Given the description of an element on the screen output the (x, y) to click on. 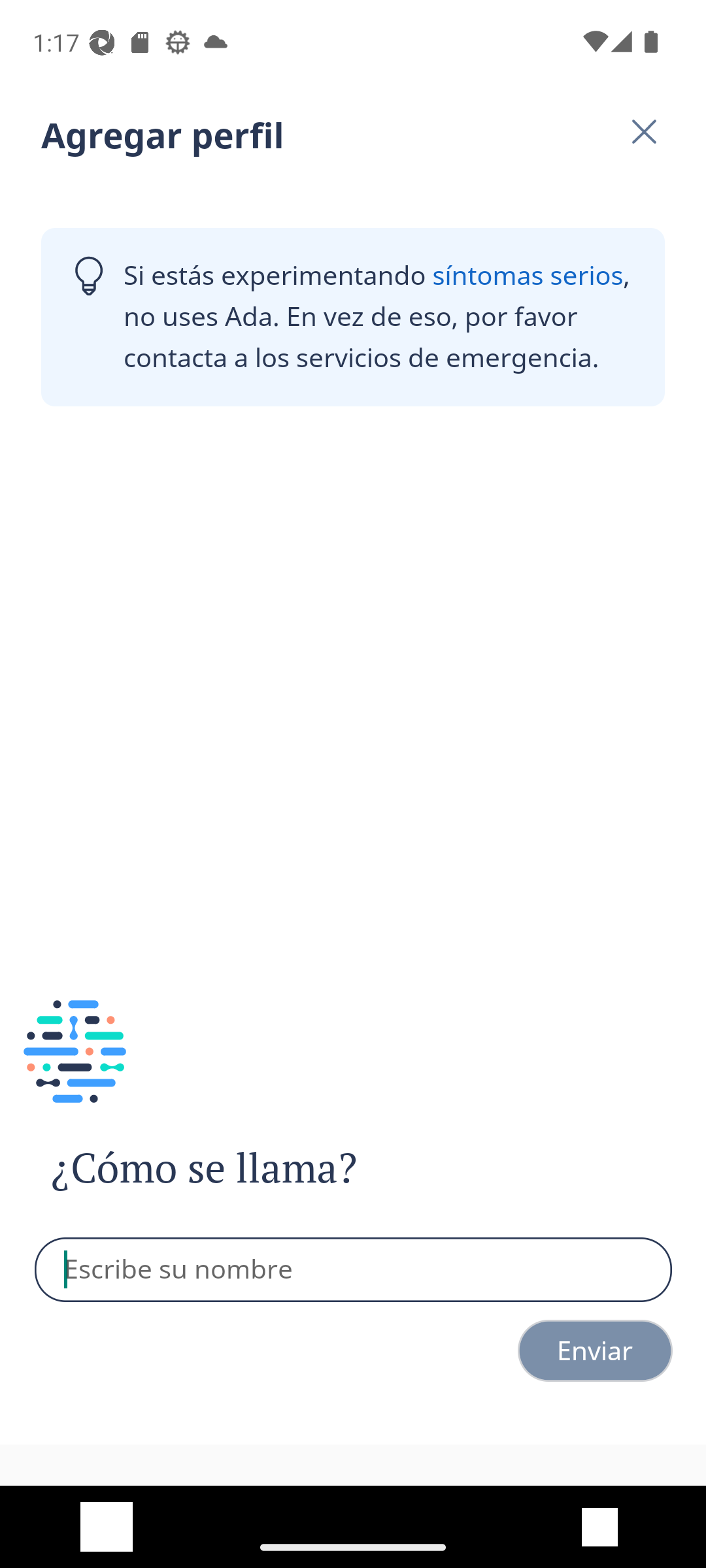
¿Cómo se llama? (240, 1168)
Escribe su nombre (353, 1269)
Enviar (594, 1349)
